Given the description of an element on the screen output the (x, y) to click on. 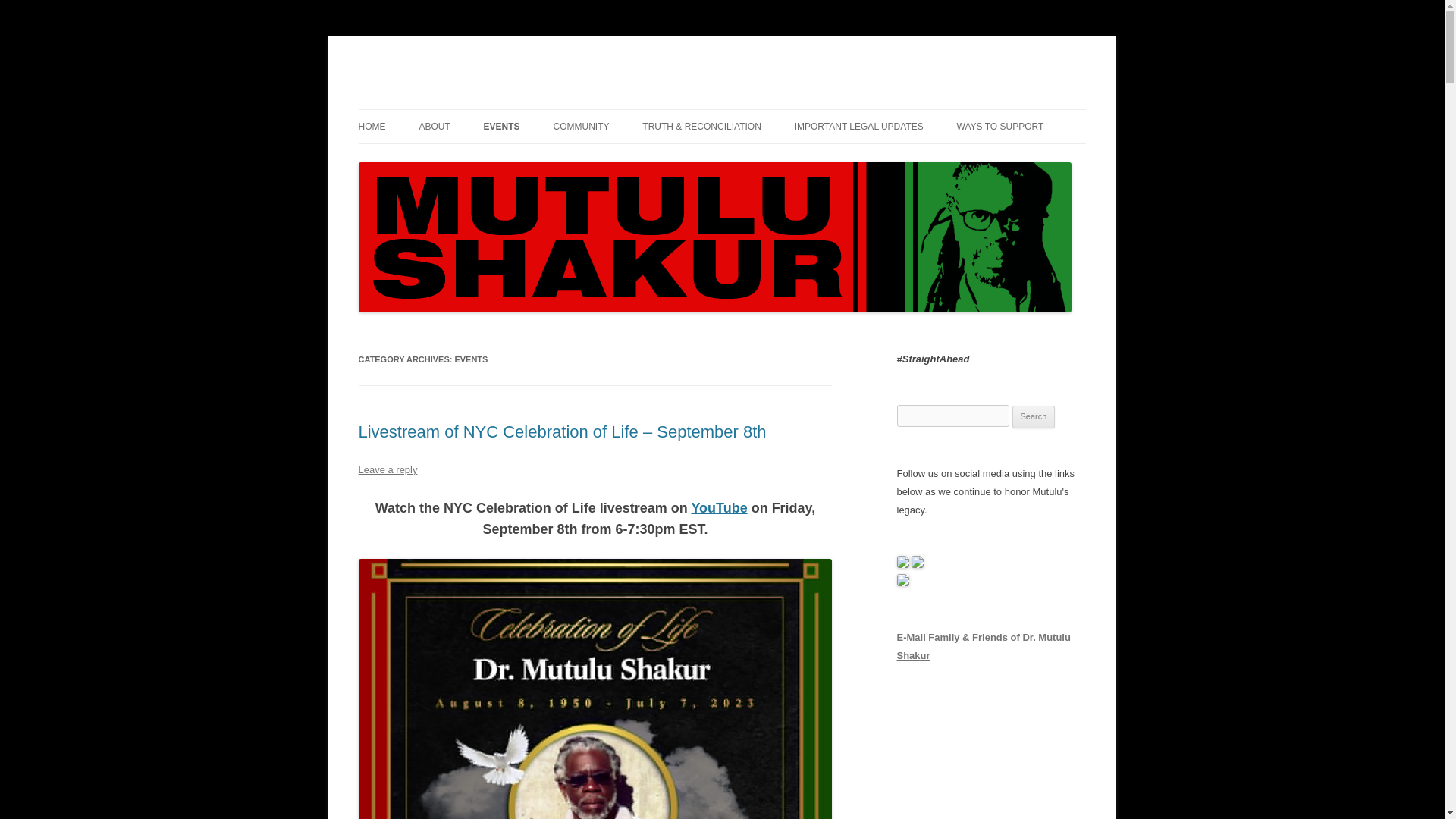
EVENTS (501, 126)
Search (1033, 416)
IMPORTANT LEGAL UPDATES (858, 126)
YouTube (718, 507)
CASE FACTS (494, 158)
COMMUNITY (580, 126)
WAYS TO SUPPORT (999, 126)
ABOUT (434, 126)
